Given the description of an element on the screen output the (x, y) to click on. 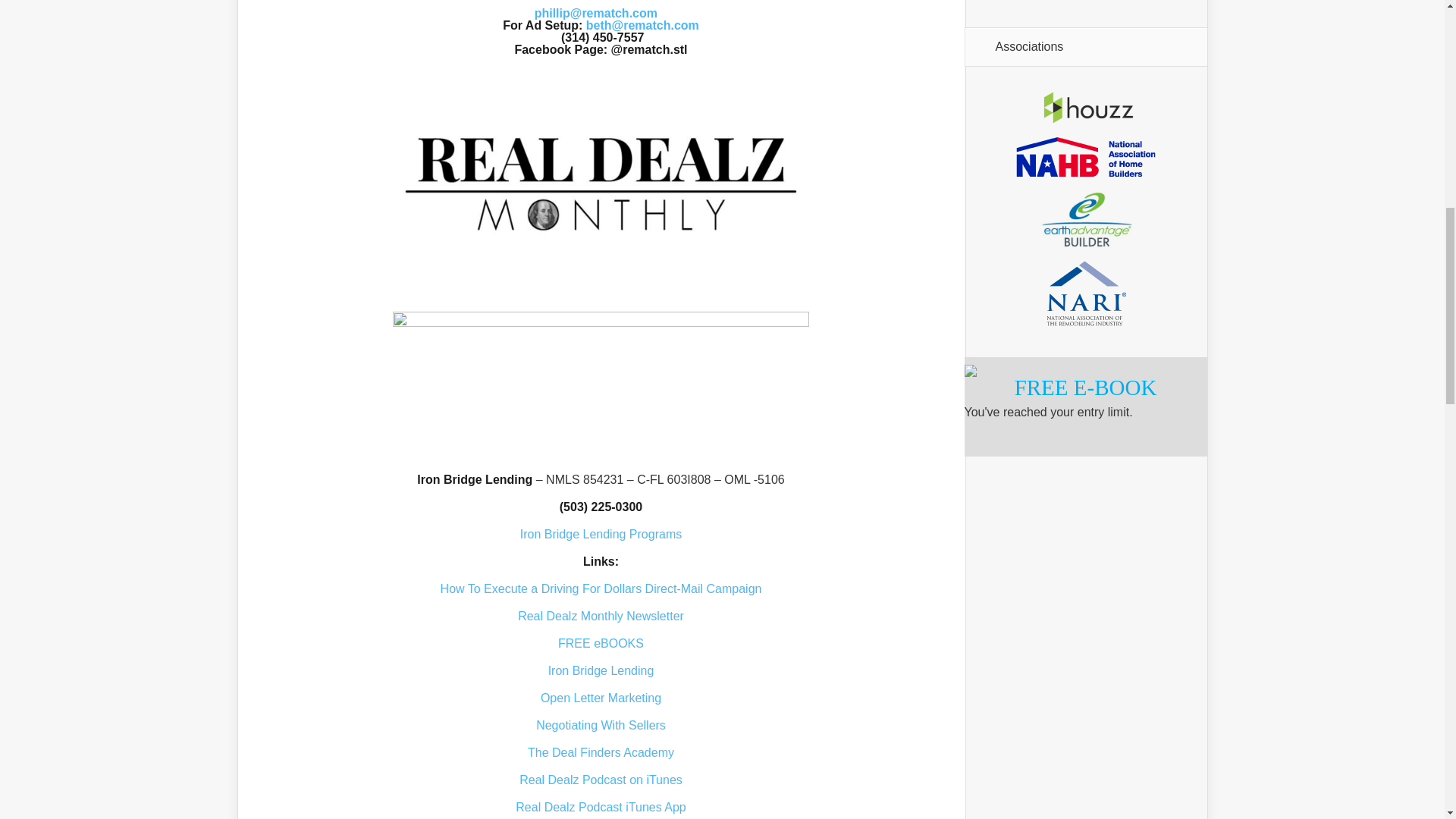
How To Execute a Driving For Dollars Direct-Mail Campaign (601, 588)
The Deal Finders Academy (600, 752)
Negotiating With Sellers (600, 725)
Open Letter Marketing (600, 697)
Real Dealz Podcast on iTunes (600, 779)
Iron Bridge Lending (600, 670)
Real Dealz Podcast on iTunes (600, 779)
FREE eBOOKS (600, 643)
Real Dealz Podcast iTunes App (600, 807)
Iron Bridge Lending Programs (600, 533)
Real Dealz Monthly Newsletter (601, 615)
Real Dealz Podcast iTunes App (600, 807)
